Given the description of an element on the screen output the (x, y) to click on. 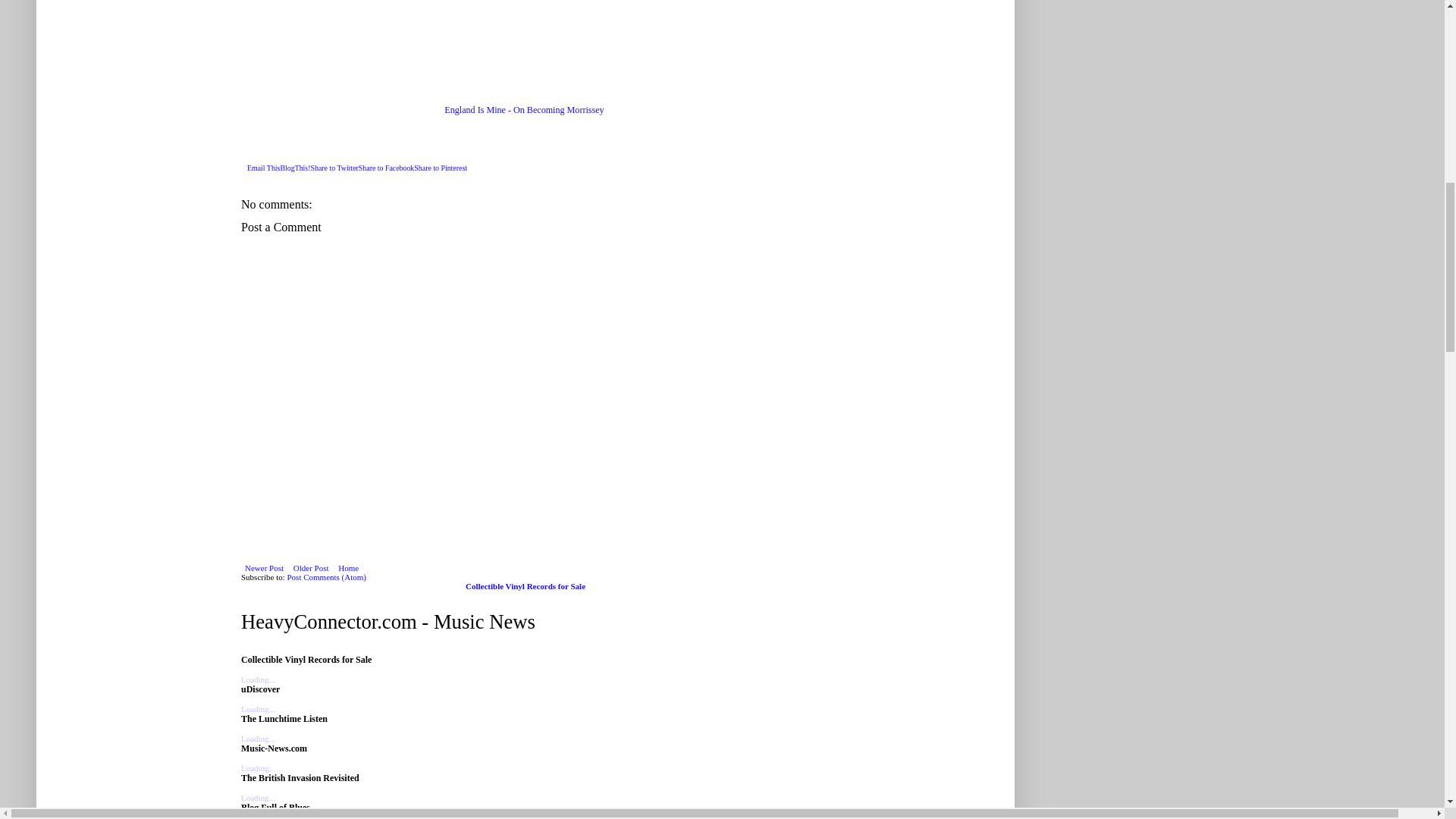
Loading... (258, 708)
Loading... (258, 768)
Share to Facebook (386, 167)
BlogThis! (294, 167)
Loading... (258, 678)
Home (348, 567)
Loading... (258, 797)
Older Post (311, 567)
Share to Twitter (334, 167)
Newer Post (263, 567)
